Given the description of an element on the screen output the (x, y) to click on. 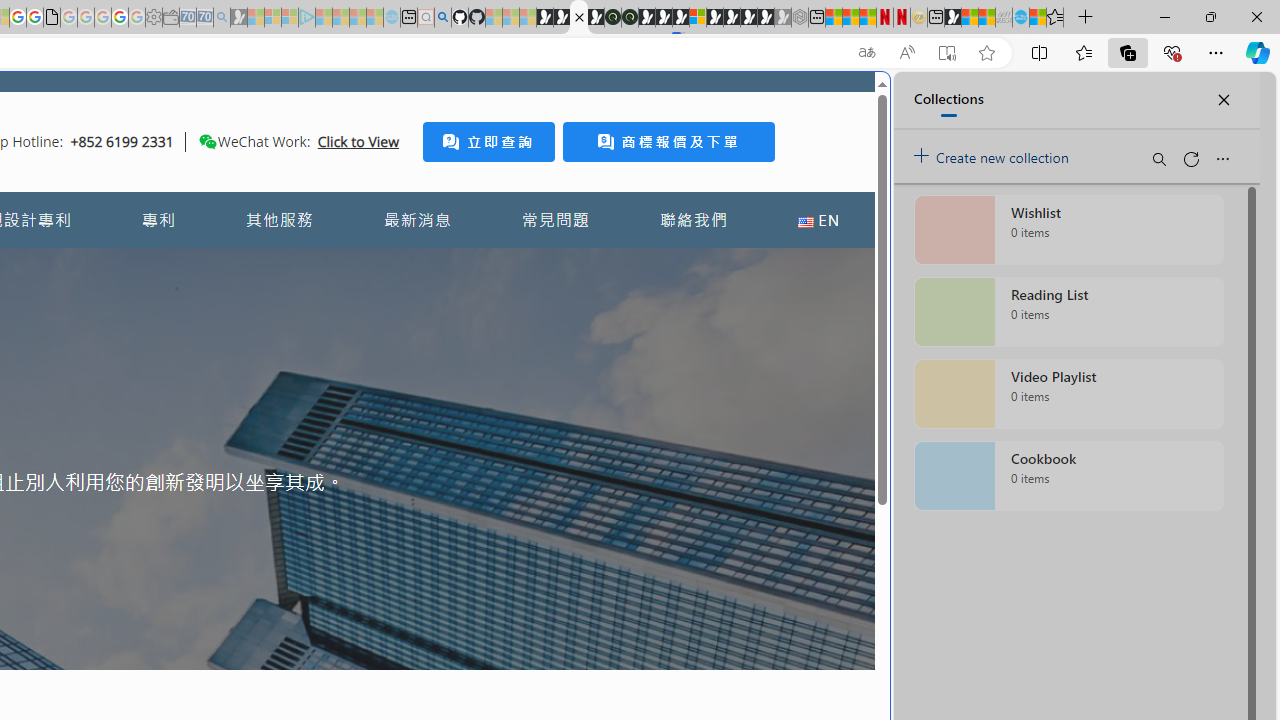
Frequently visited (418, 265)
World - MSN (969, 17)
Earth has six continents not seven, radical new study claims (986, 17)
Search or enter web address (343, 191)
Microsoft Start Gaming - Sleeping (238, 17)
